Given the description of an element on the screen output the (x, y) to click on. 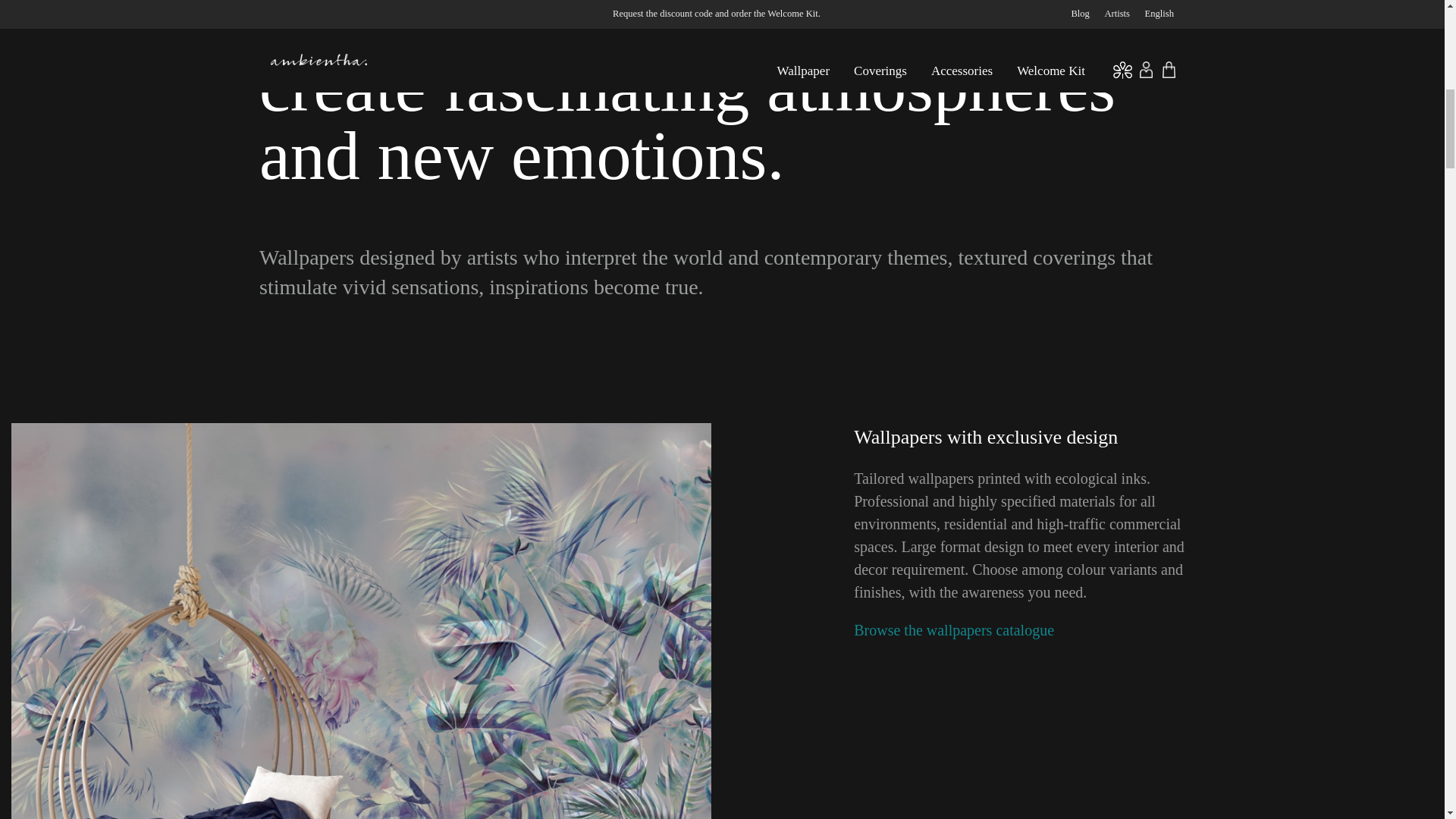
Browse the wallpapers catalogue (953, 629)
Wallpapers with exclusive design (985, 436)
